Given the description of an element on the screen output the (x, y) to click on. 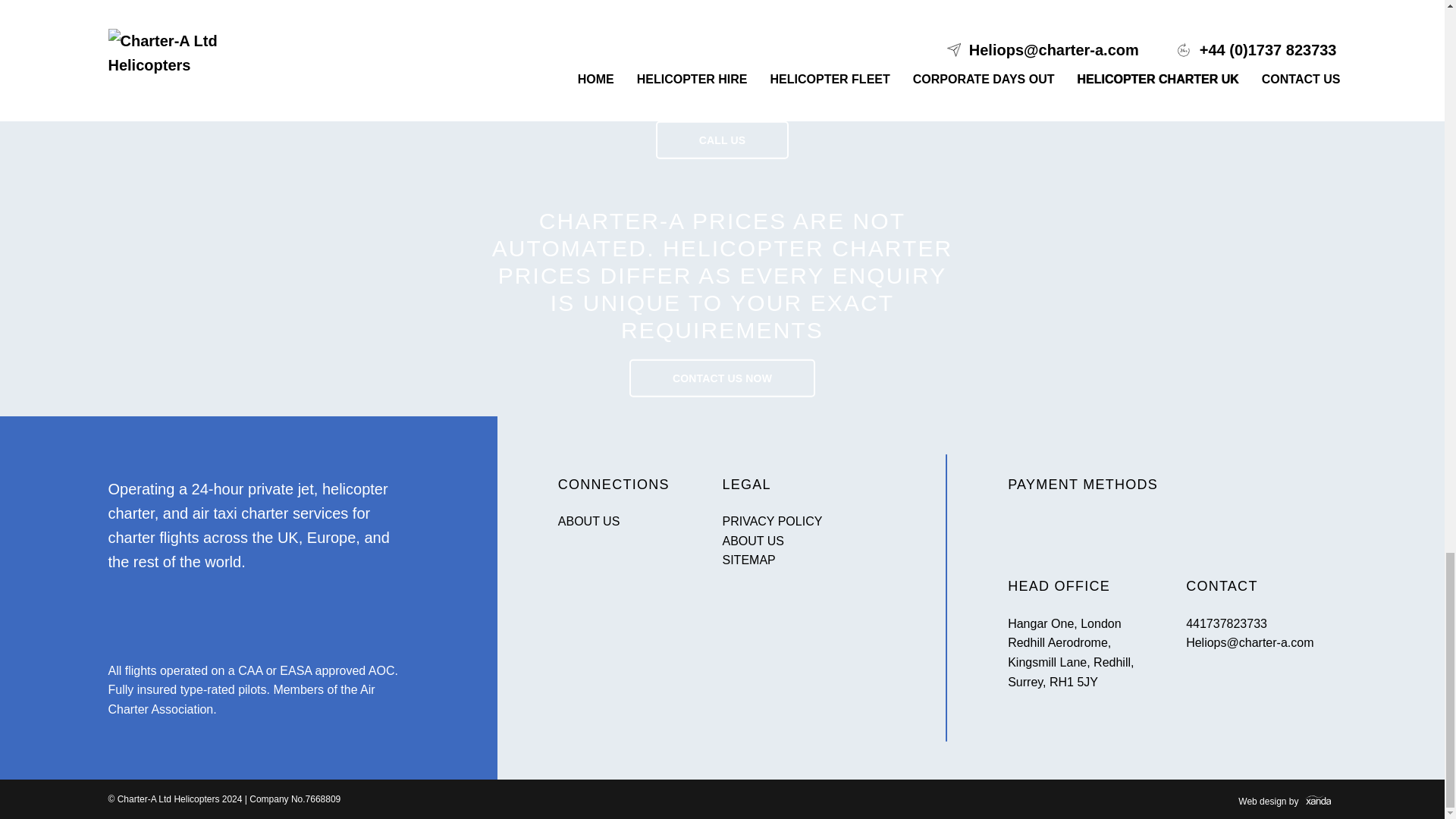
Xanda Ltd (1287, 799)
Contact Us (721, 377)
Contact Us (722, 139)
